Given the description of an element on the screen output the (x, y) to click on. 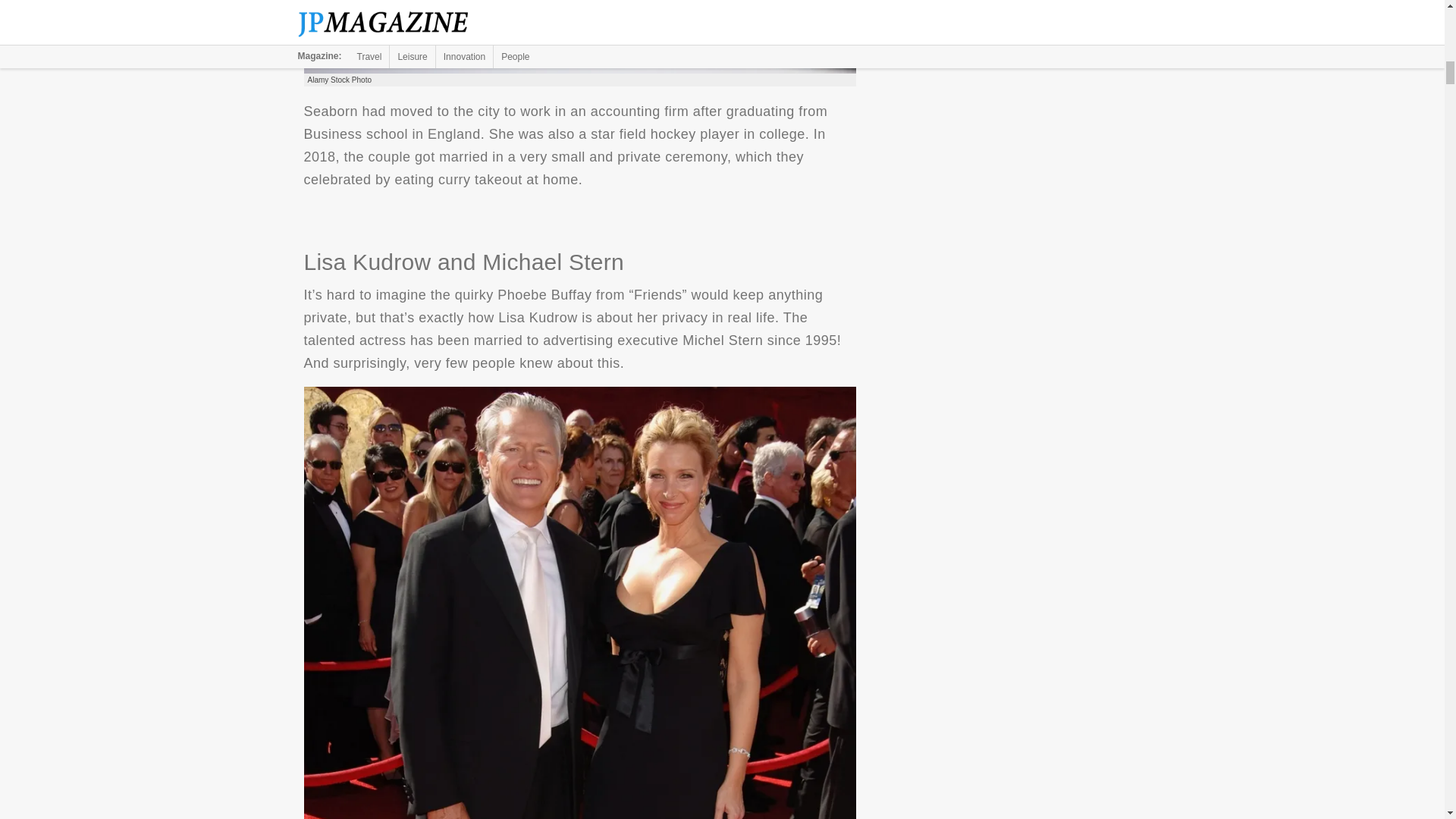
Ed Sheeran and Cherry Seaborn (579, 36)
